Given the description of an element on the screen output the (x, y) to click on. 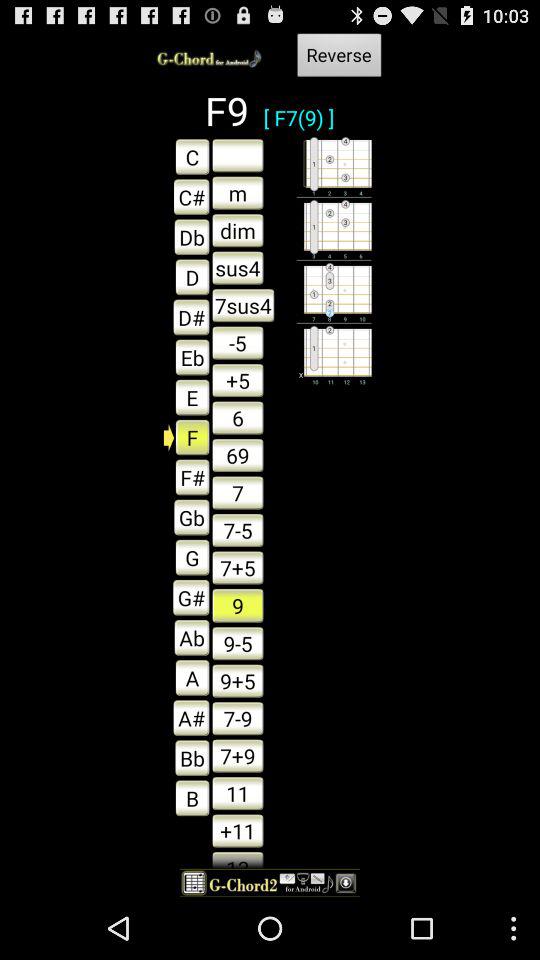
swipe until the e icon (186, 397)
